Given the description of an element on the screen output the (x, y) to click on. 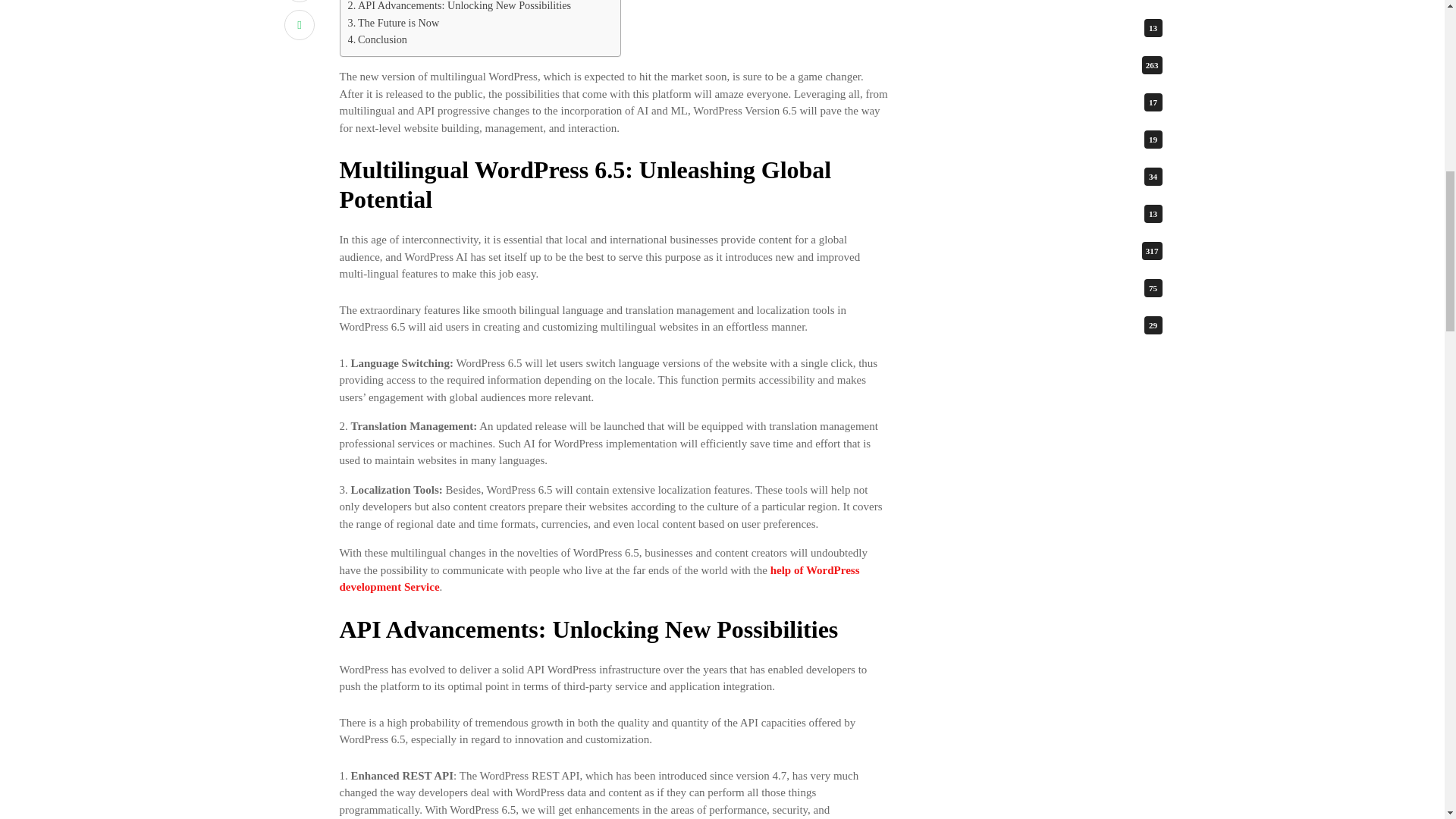
API Advancements: Unlocking New Possibilities (458, 7)
Conclusion (376, 39)
The Future is Now (393, 22)
